Given the description of an element on the screen output the (x, y) to click on. 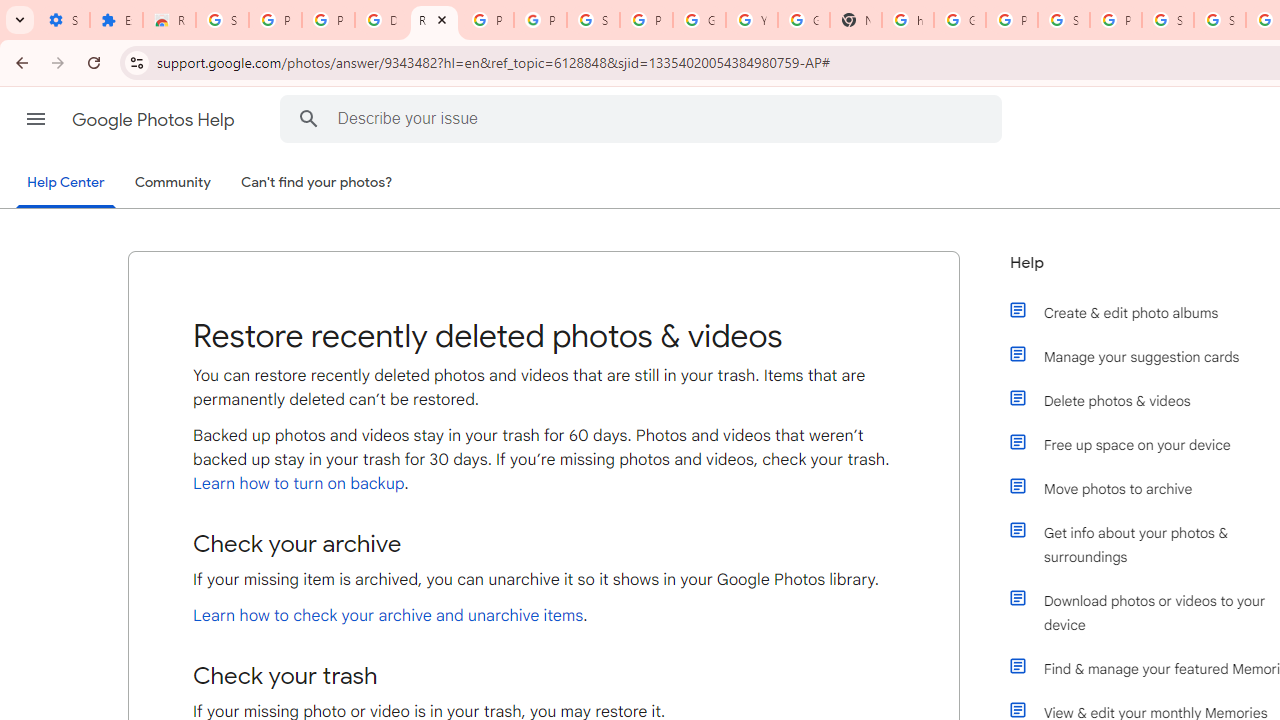
Main menu (35, 119)
Describe your issue (644, 118)
Sign in - Google Accounts (1219, 20)
Google Photos Help (155, 119)
Can't find your photos? (317, 183)
Search Help Center (309, 118)
Learn how to check your archive and unarchive items (388, 615)
